Given the description of an element on the screen output the (x, y) to click on. 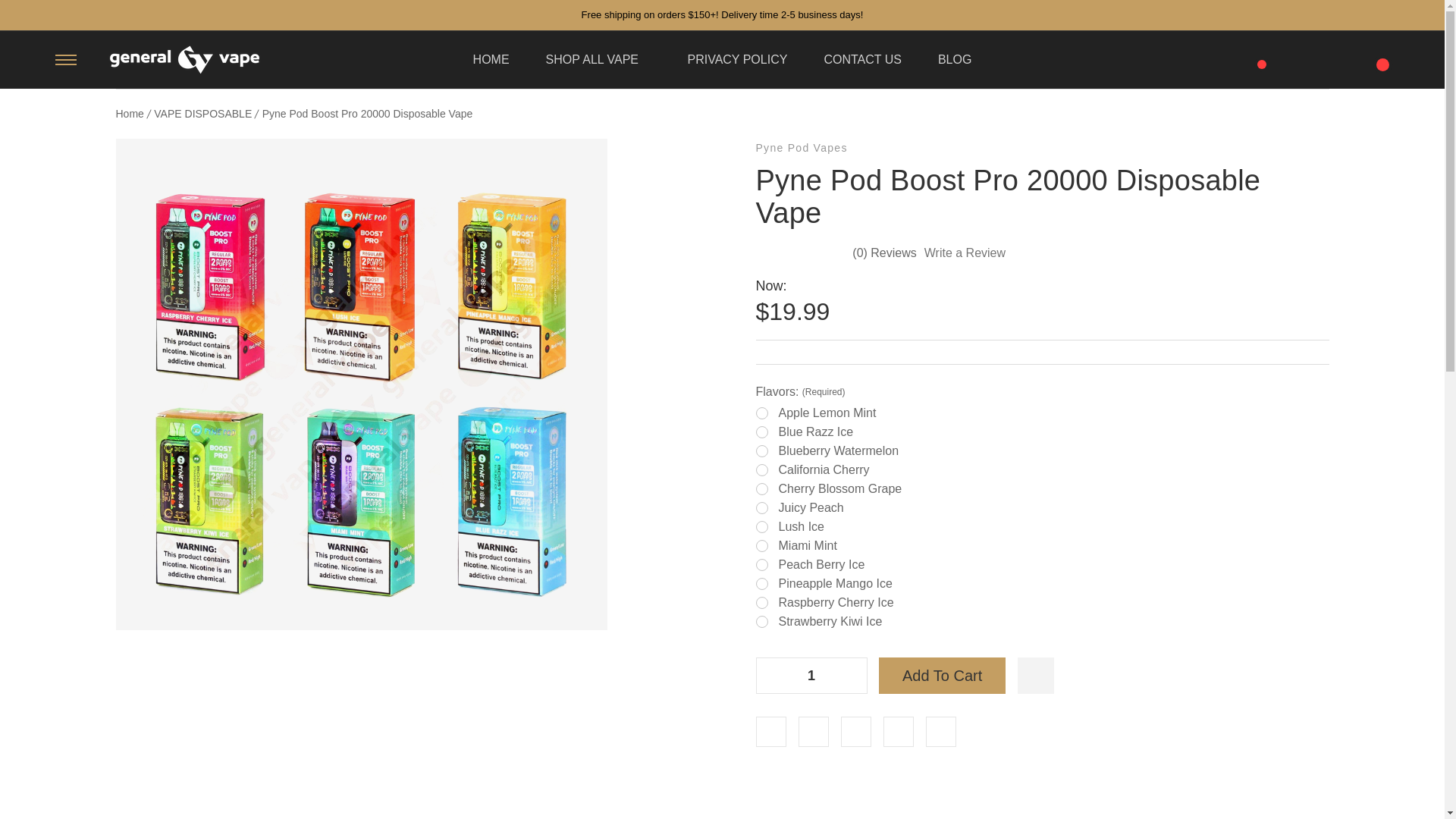
Email (812, 731)
Facebook (770, 731)
Twitter (897, 731)
Print (855, 731)
CONTACT US (862, 59)
PRIVACY POLICY (737, 59)
1 (811, 675)
General Vape (183, 60)
